Given the description of an element on the screen output the (x, y) to click on. 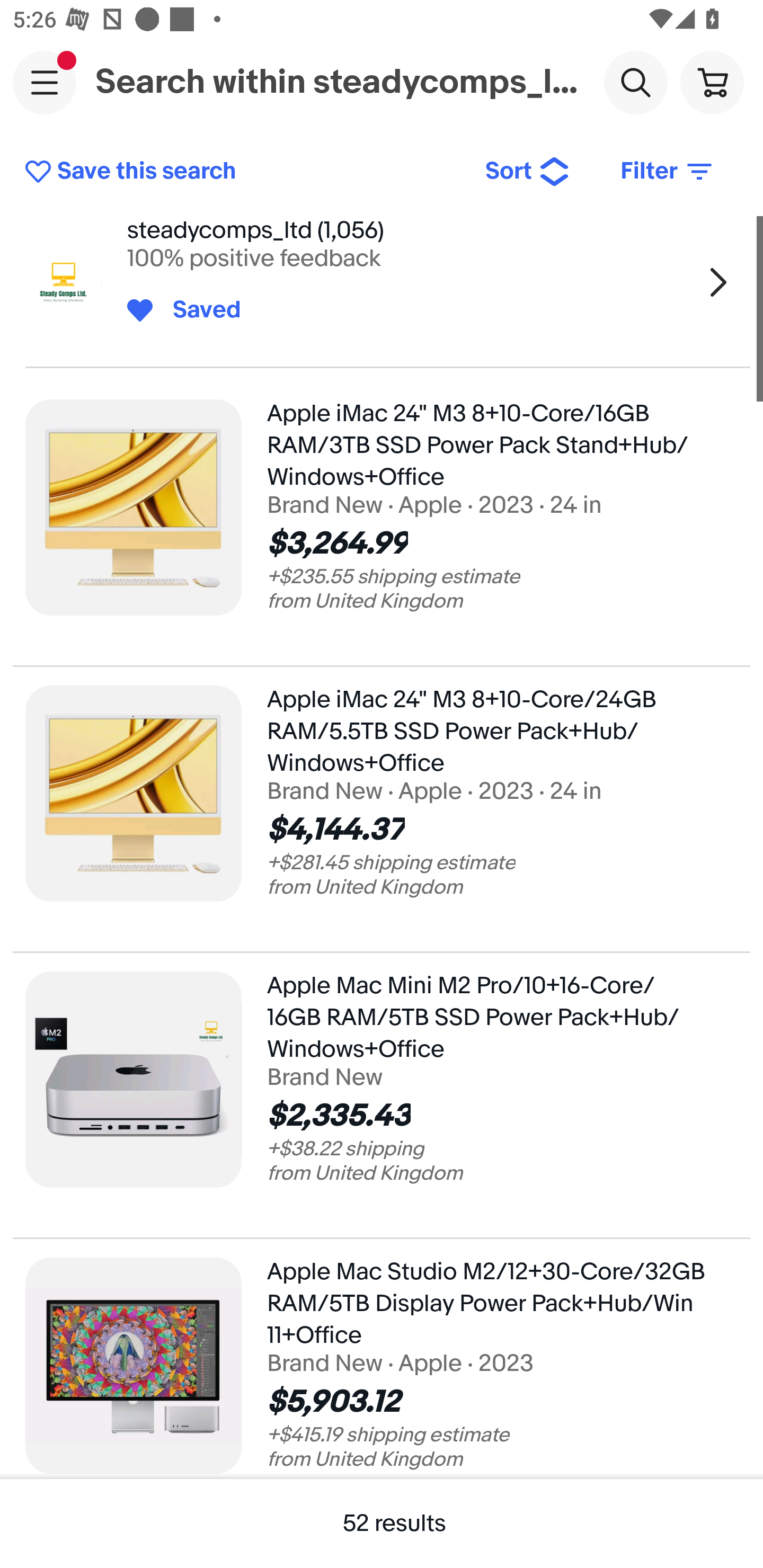
Main navigation, notification is pending, open (44, 82)
Search (635, 81)
Cart button shopping cart (711, 81)
Save this search (241, 171)
Sort (527, 171)
Filter (667, 171)
Saved (197, 310)
